Given the description of an element on the screen output the (x, y) to click on. 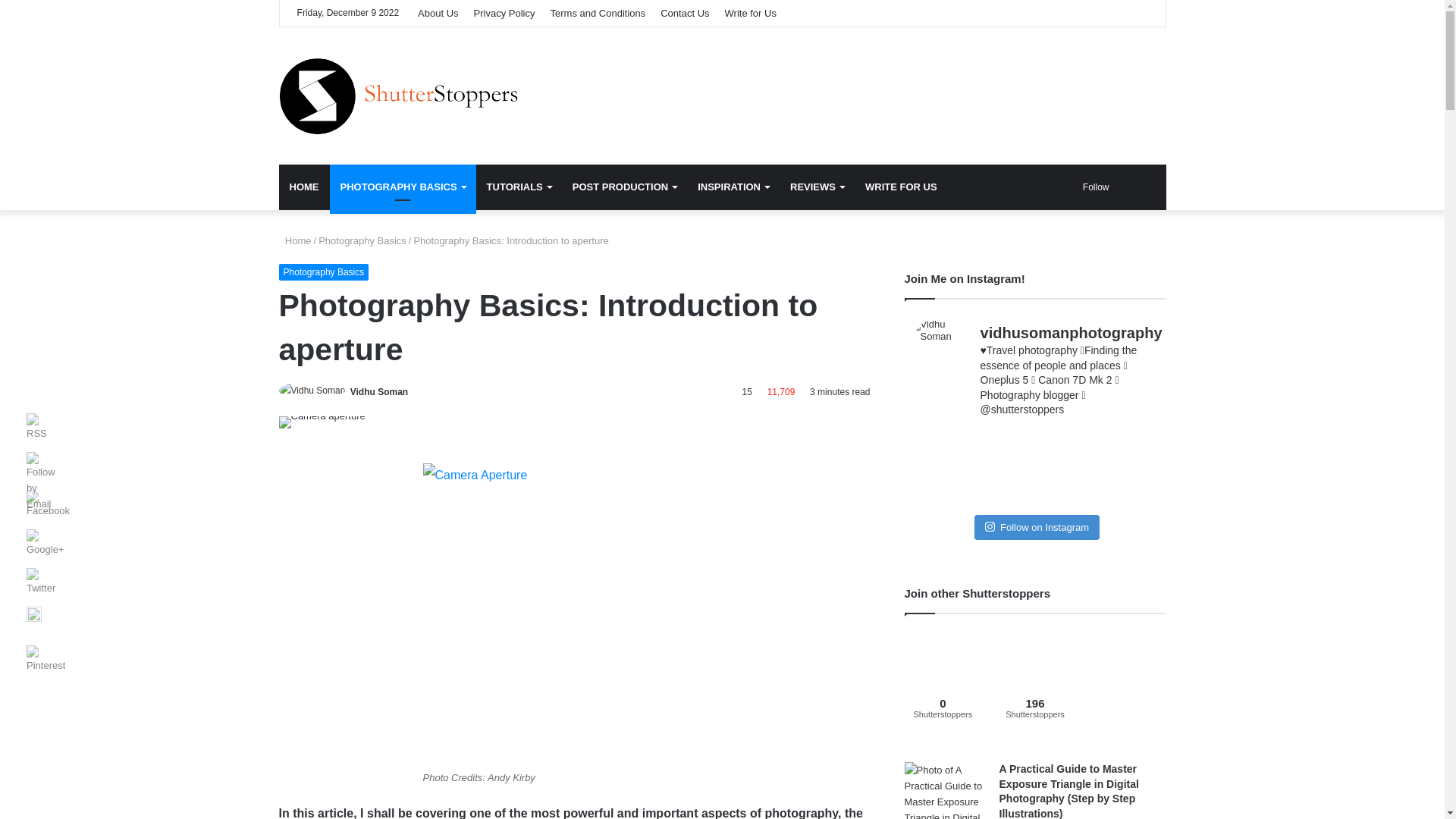
Terms and Conditions (598, 13)
INSPIRATION (732, 186)
Home (295, 240)
Privacy Policy (504, 13)
Vidhu Soman (378, 391)
Write for Us (750, 13)
WRITE FOR US (900, 186)
Photography Basics (324, 271)
REVIEWS (816, 186)
HOME (304, 186)
